Given the description of an element on the screen output the (x, y) to click on. 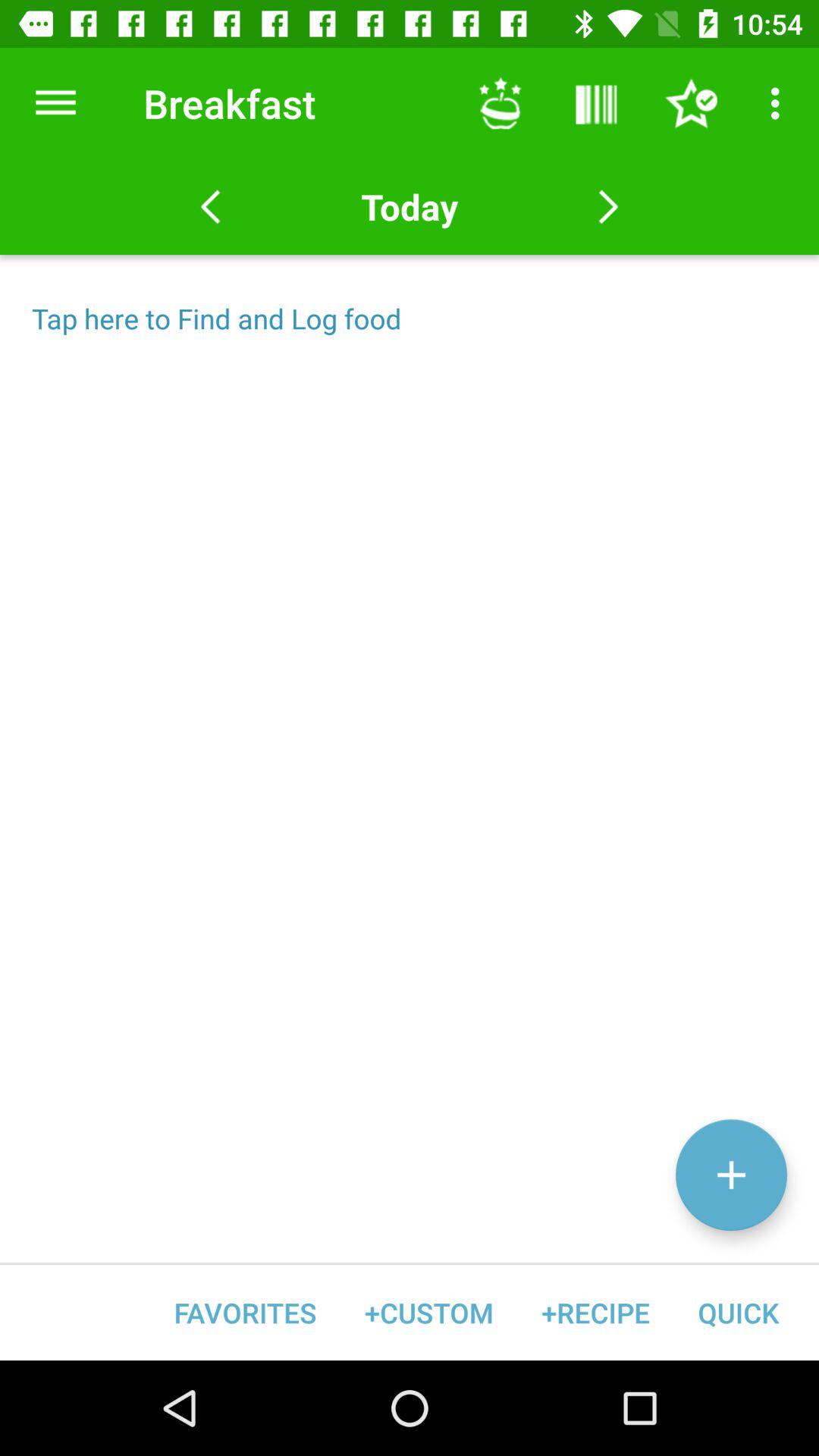
add a food to your breakfast log (731, 1174)
